Given the description of an element on the screen output the (x, y) to click on. 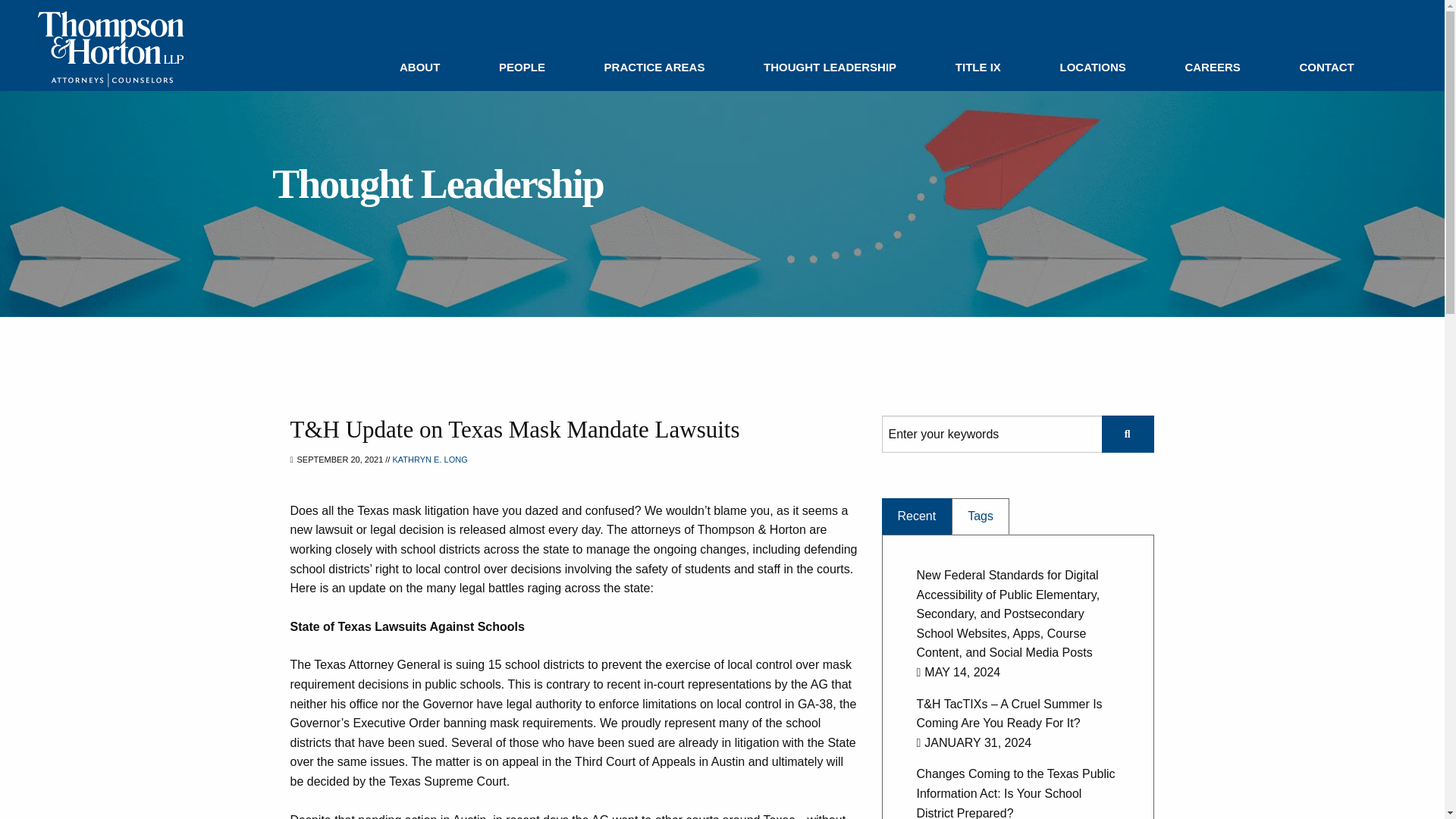
LOCATIONS (1092, 67)
CAREERS (1211, 67)
CONTACT (1326, 67)
PRACTICE AREAS (654, 67)
THOUGHT LEADERSHIP (829, 67)
PEOPLE (521, 67)
ABOUT (419, 67)
KATHRYN E. LONG (430, 459)
Tags (980, 515)
